Given the description of an element on the screen output the (x, y) to click on. 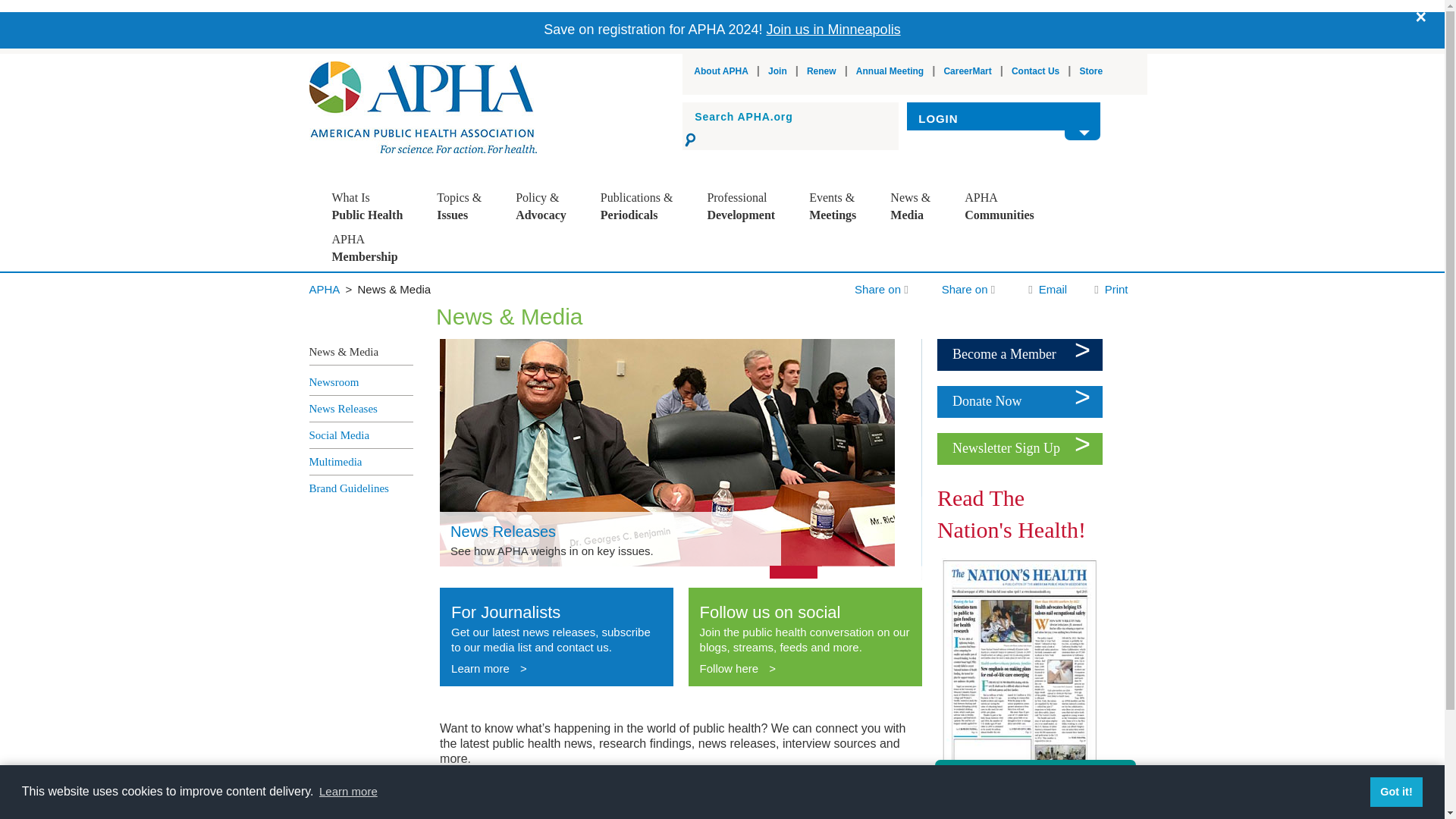
Join (777, 71)
Reports and Issue Briefs (658, 346)
Submit (692, 140)
Contact Us (1035, 71)
Renew (820, 71)
Fact Sheets (658, 321)
Who is public health? (389, 296)
Submit (692, 140)
Got it! (1396, 791)
CareerMart (967, 71)
Environmental Health (494, 321)
Submit (692, 140)
Racial Equity (494, 271)
Advocacy for Public Health (572, 246)
Learn more (348, 791)
